Given the description of an element on the screen output the (x, y) to click on. 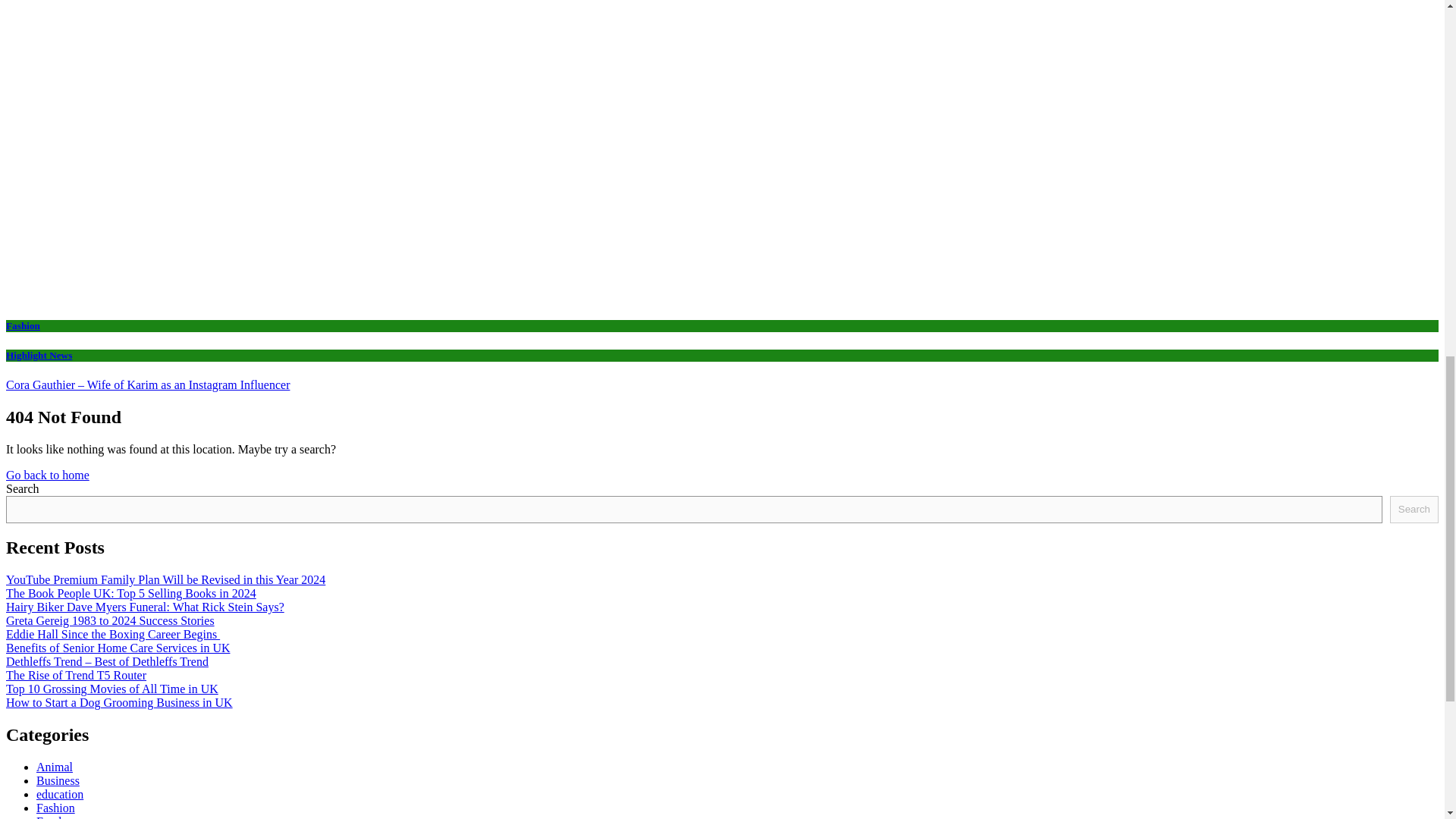
Food (48, 816)
Eddie Hall Since the Boxing Career Begins  (112, 634)
Go back to home (46, 474)
Business (58, 780)
education (59, 793)
How to Start a Dog Grooming Business in UK (118, 702)
Benefits of Senior Home Care Services in UK (117, 647)
Greta Gereig 1983 to 2024 Success Stories (109, 620)
Fashion (22, 325)
The Rise of Trend T5 Router (76, 675)
Fashion (55, 807)
Animal (54, 766)
Highlight News (38, 355)
The Book People UK: Top 5 Selling Books in 2024 (130, 593)
